Given the description of an element on the screen output the (x, y) to click on. 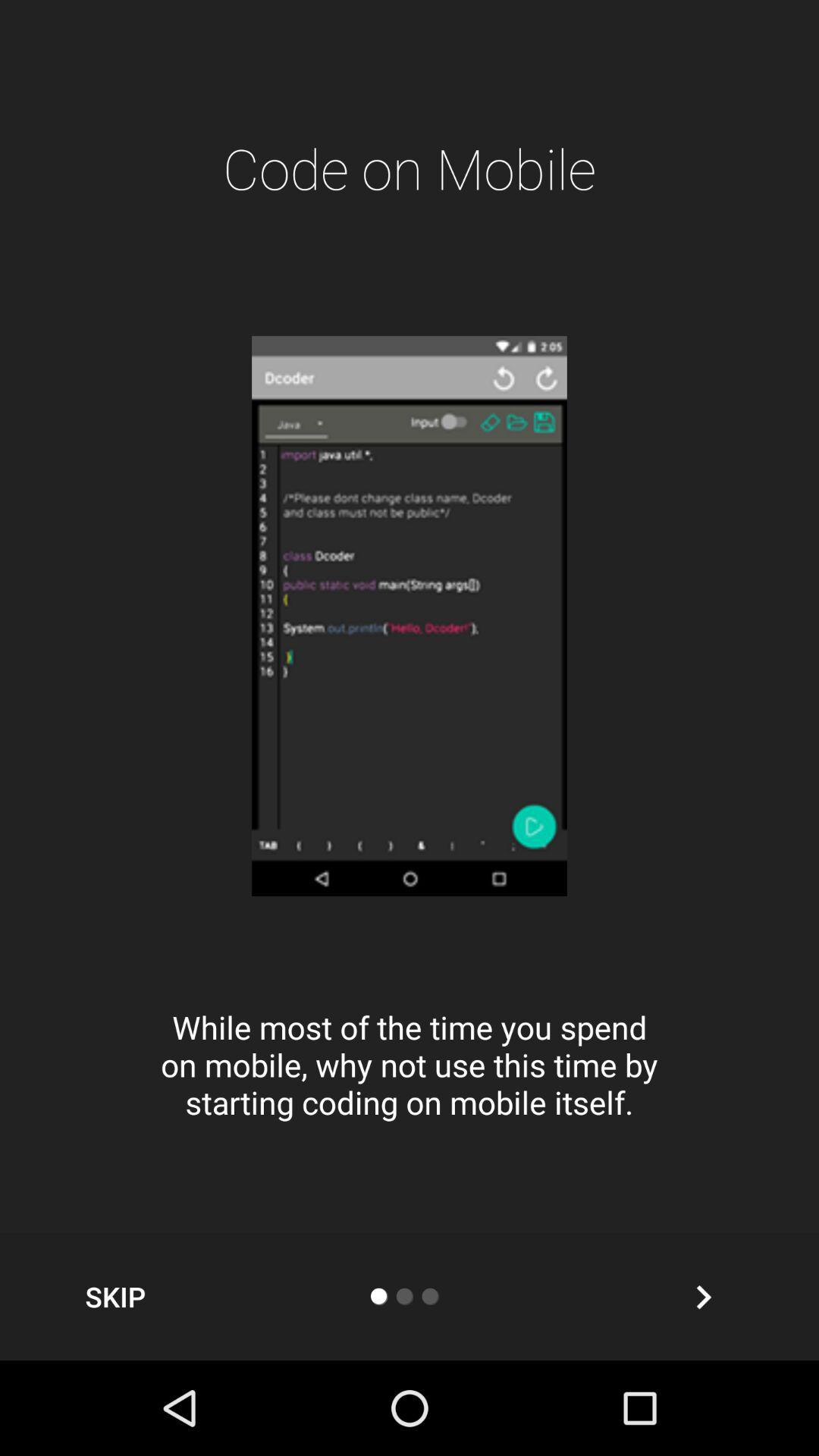
tap the item below while most of icon (703, 1296)
